Given the description of an element on the screen output the (x, y) to click on. 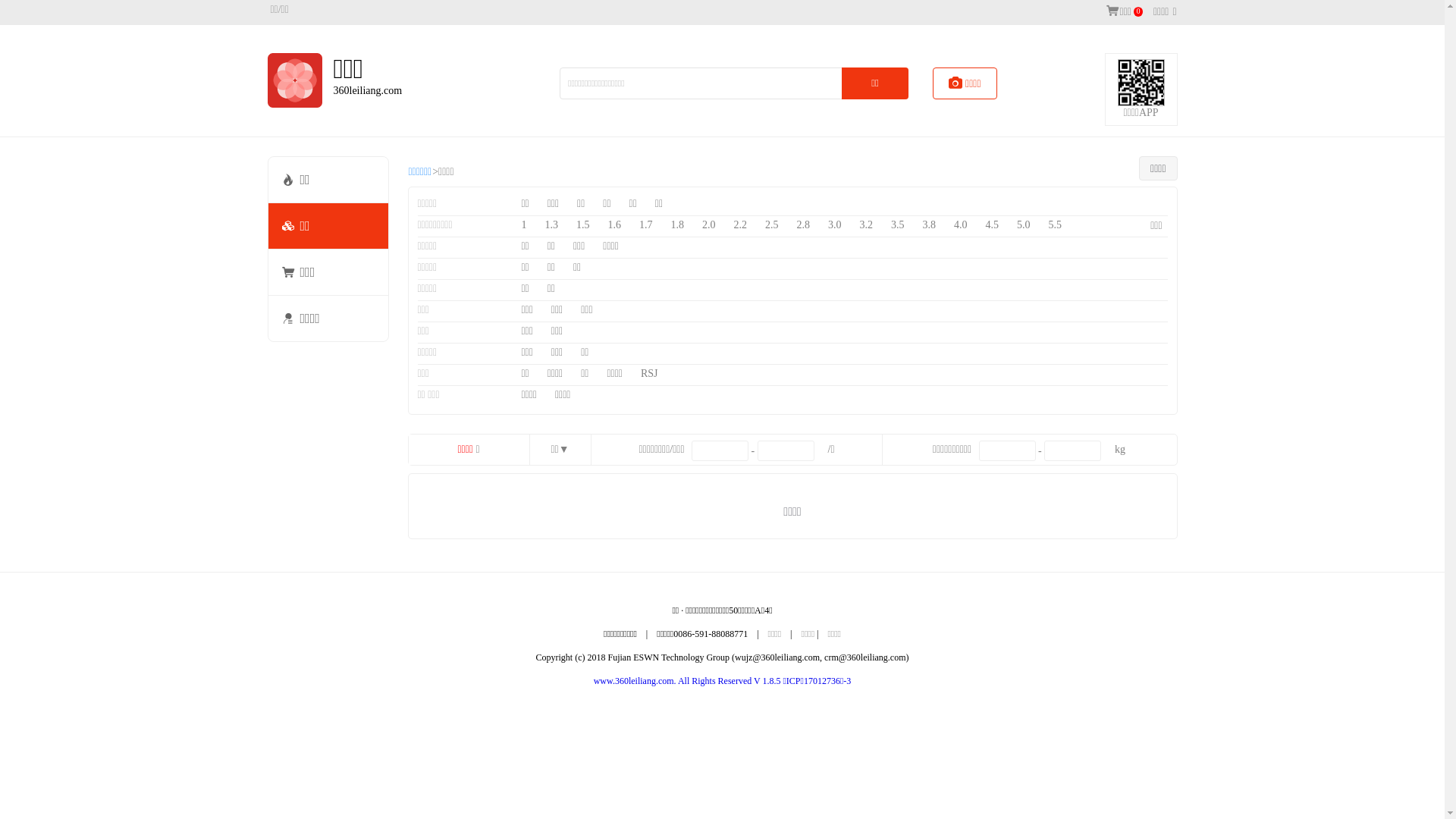
3.8 Element type: text (929, 225)
5.5 Element type: text (1055, 225)
RSJ Element type: text (649, 373)
1.6 Element type: text (614, 225)
2.5 Element type: text (771, 225)
2.2 Element type: text (740, 225)
4.0 Element type: text (960, 225)
1.8 Element type: text (677, 225)
1 Element type: text (523, 225)
2.0 Element type: text (708, 225)
3.2 Element type: text (865, 225)
4.5 Element type: text (991, 225)
3.5 Element type: text (897, 225)
2.8 Element type: text (803, 225)
1.7 Element type: text (645, 225)
1.3 Element type: text (551, 225)
1.5 Element type: text (583, 225)
5.0 Element type: text (1023, 225)
3.0 Element type: text (834, 225)
